Given the description of an element on the screen output the (x, y) to click on. 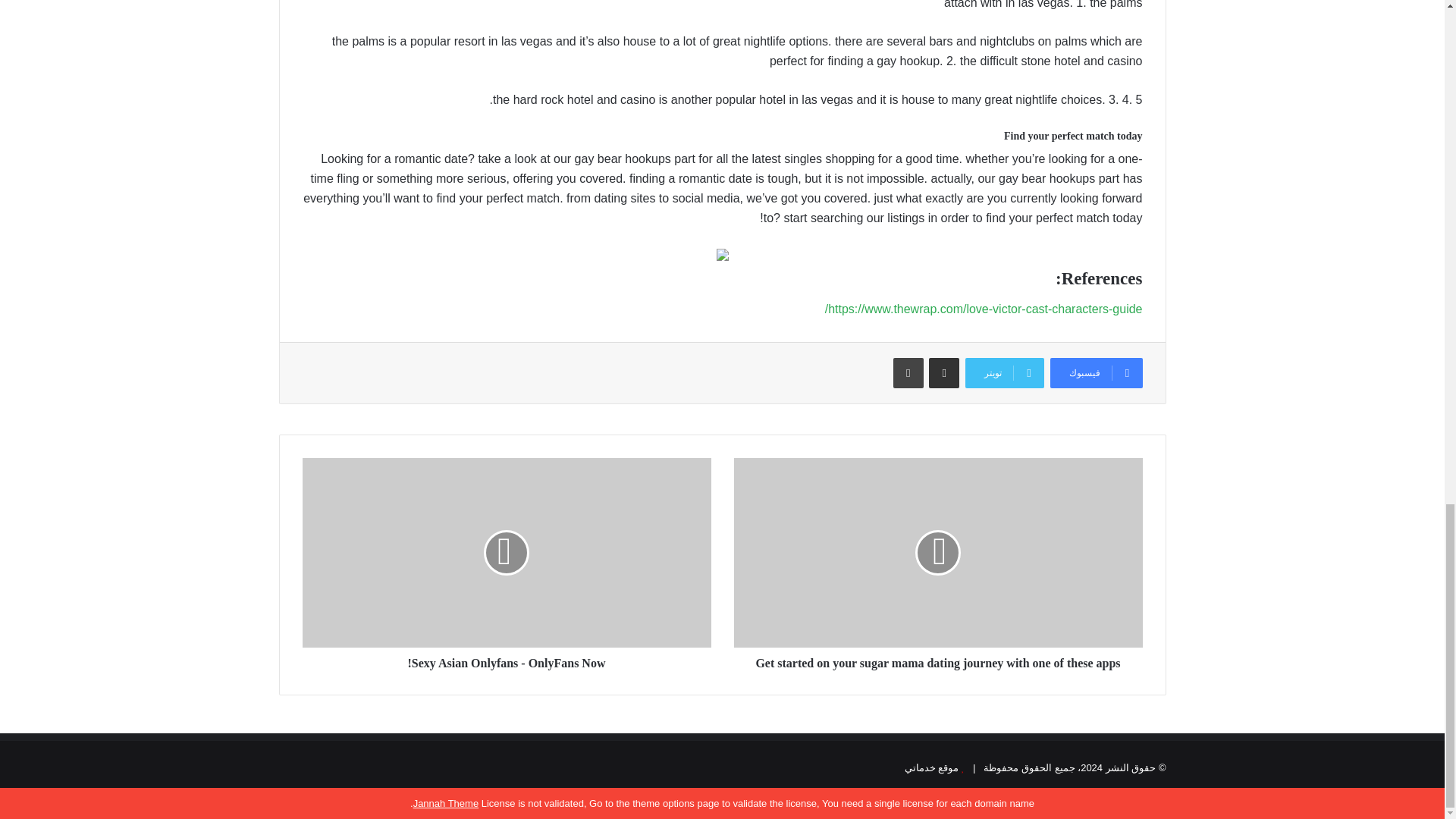
Sexy Asian Onlyfans - OnlyFans Now! (505, 659)
